Given the description of an element on the screen output the (x, y) to click on. 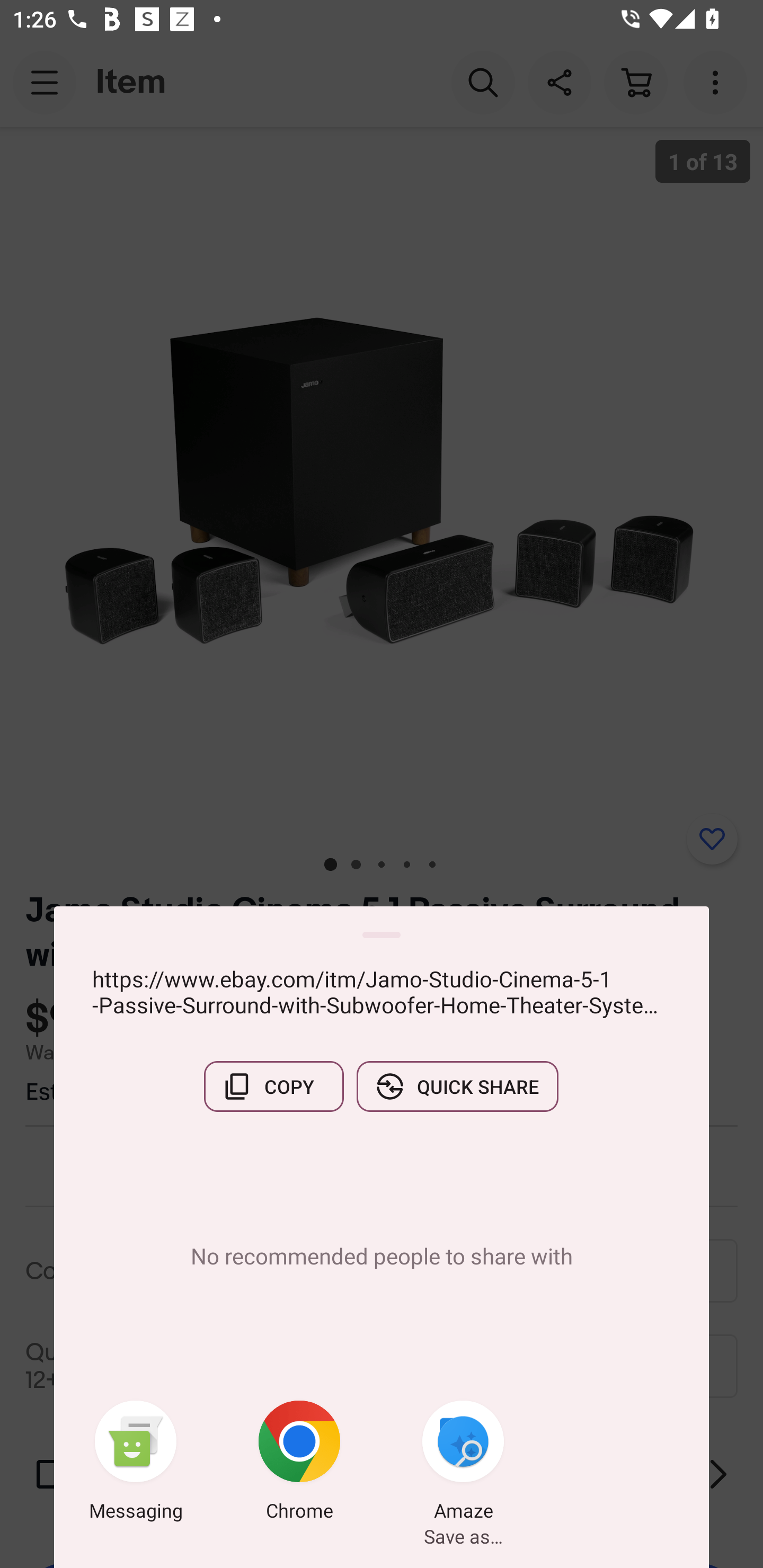
COPY (273, 1086)
QUICK SHARE (457, 1086)
Messaging (135, 1463)
Chrome (299, 1463)
Amaze Save as… (463, 1463)
